Given the description of an element on the screen output the (x, y) to click on. 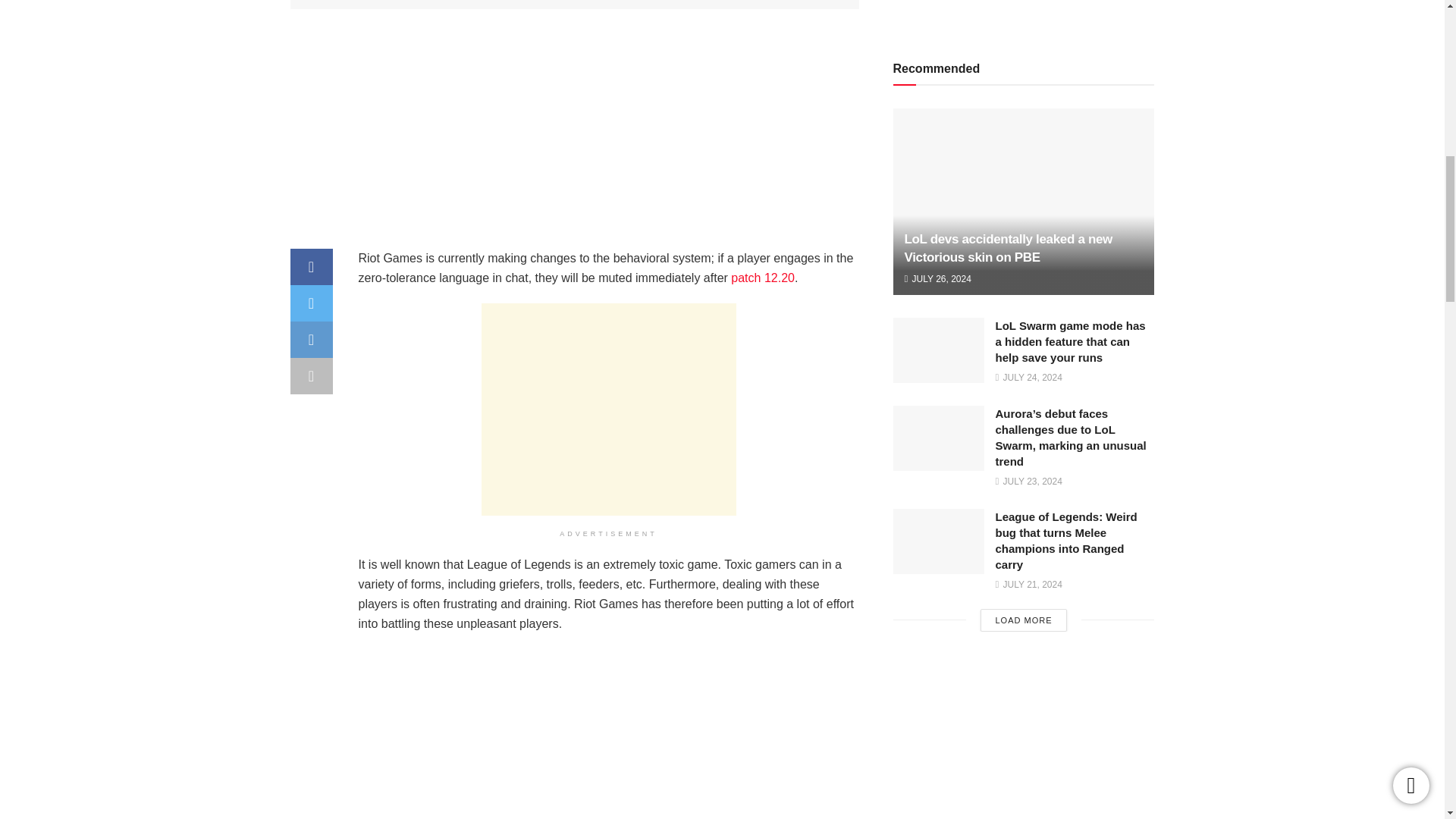
LoL devs accidentally leaked a new Victorious skin on PBE 6 (1023, 239)
